Given the description of an element on the screen output the (x, y) to click on. 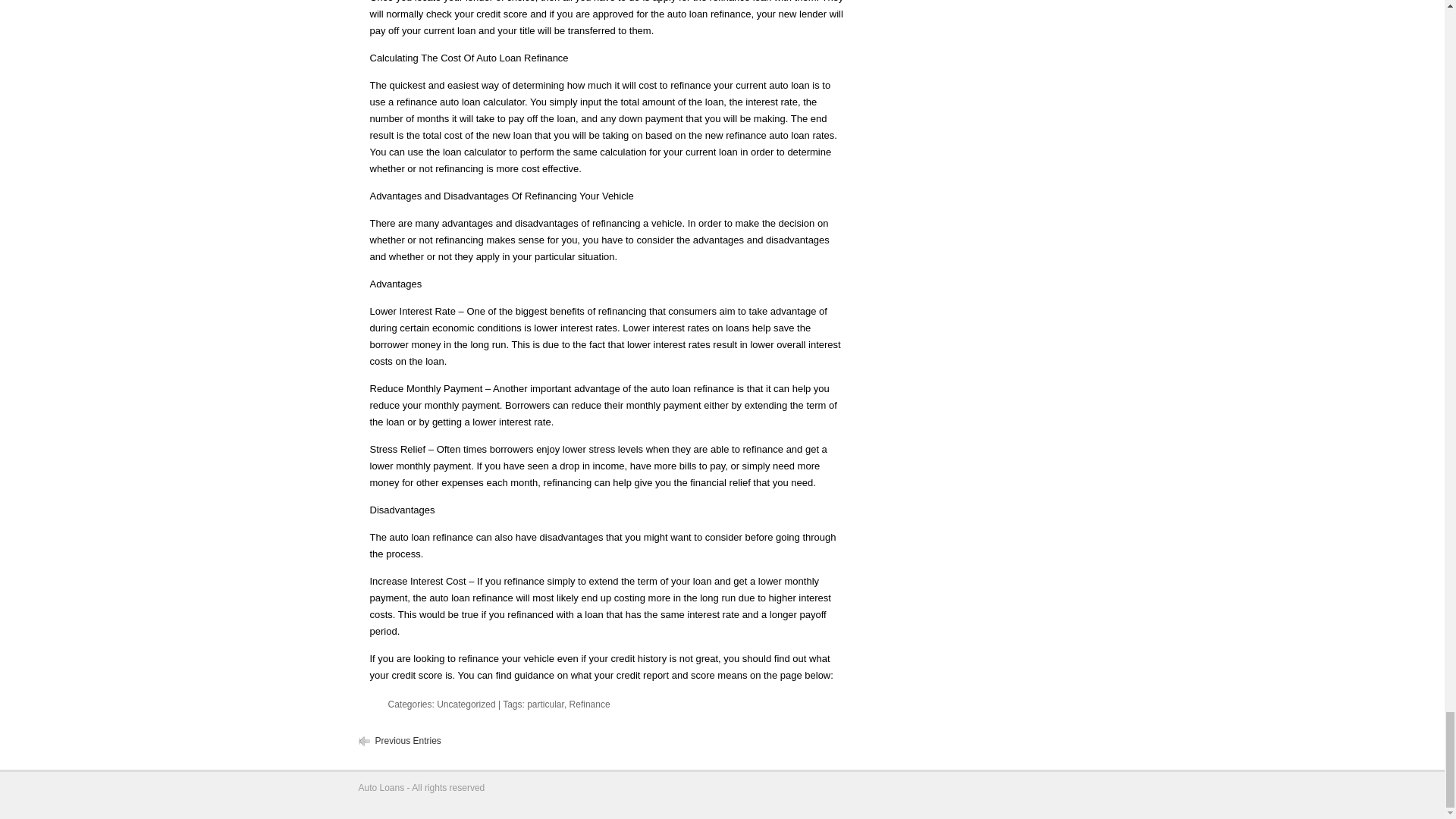
Uncategorized (465, 704)
Refinance (589, 704)
particular (545, 704)
Previous Entries (407, 740)
View all posts in Uncategorized (465, 704)
